Given the description of an element on the screen output the (x, y) to click on. 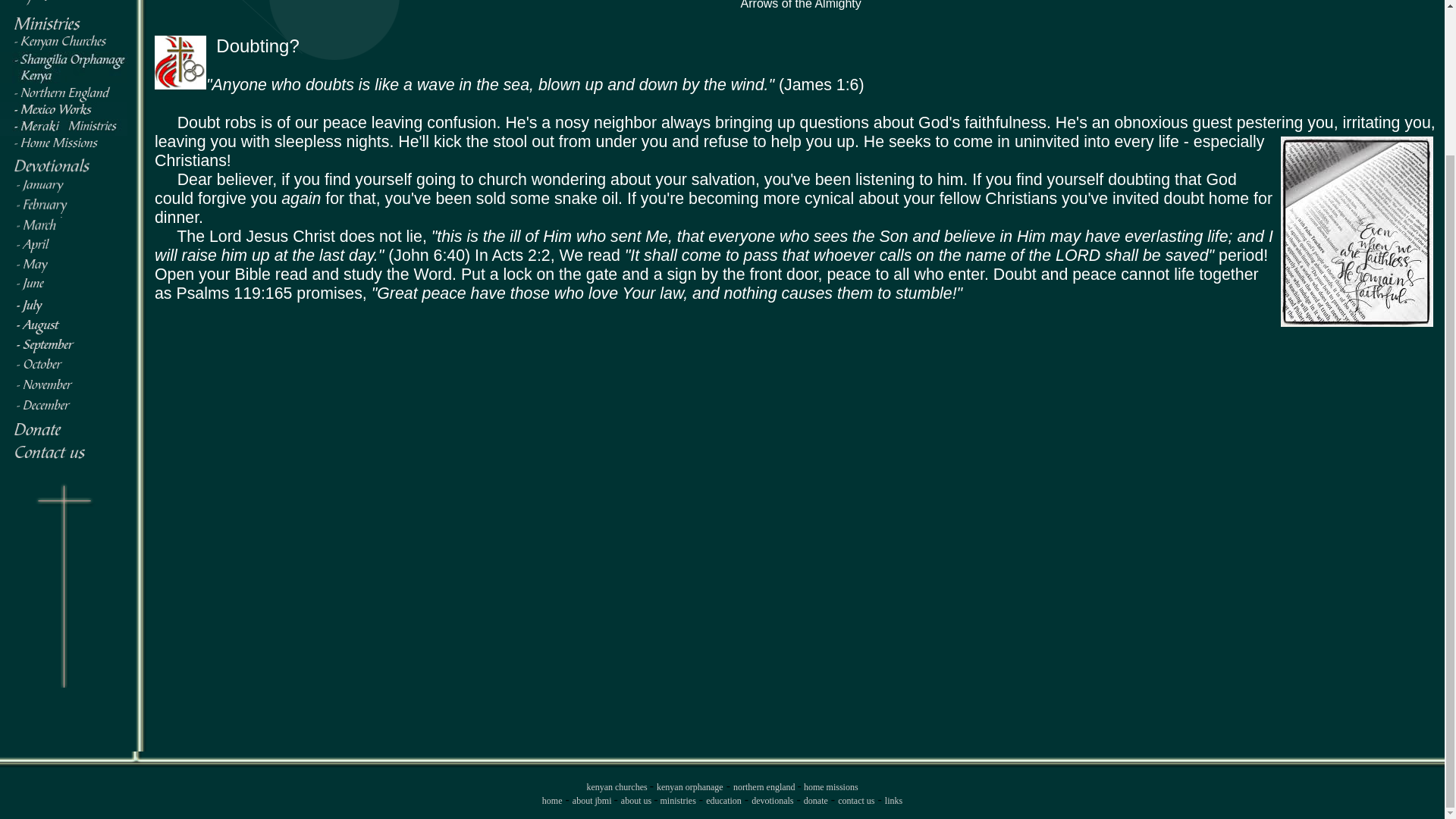
kenyan orphanage (689, 787)
northern england (765, 787)
home missions (830, 787)
kenyan churches (617, 787)
home (551, 800)
